Given the description of an element on the screen output the (x, y) to click on. 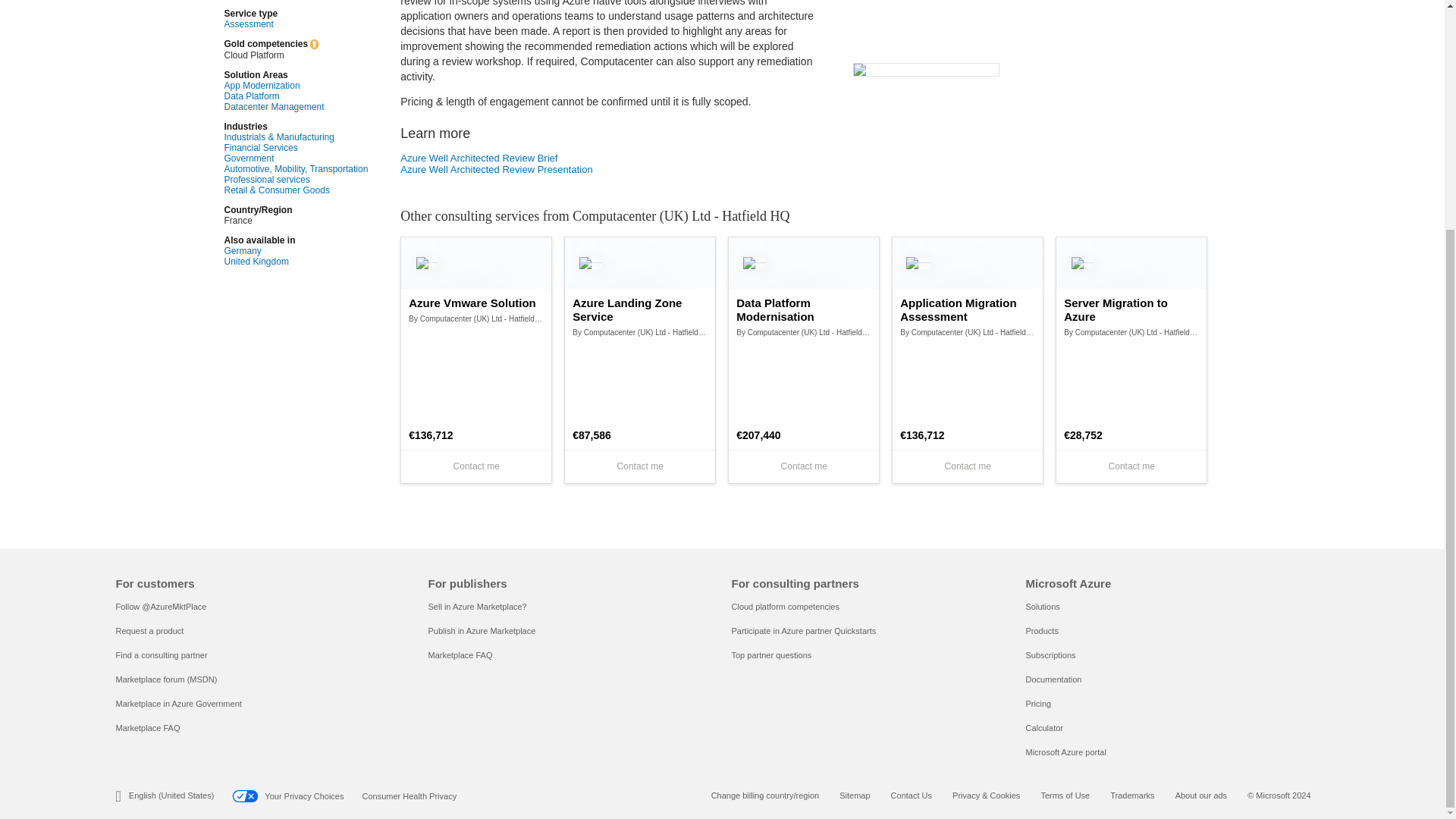
Application Migration Assessment (967, 309)
Azure Vmware Solution (476, 303)
Data Platform Modernisation (803, 309)
Server Migration to Azure (1131, 309)
Azure Landing Zone Service (639, 309)
